Given the description of an element on the screen output the (x, y) to click on. 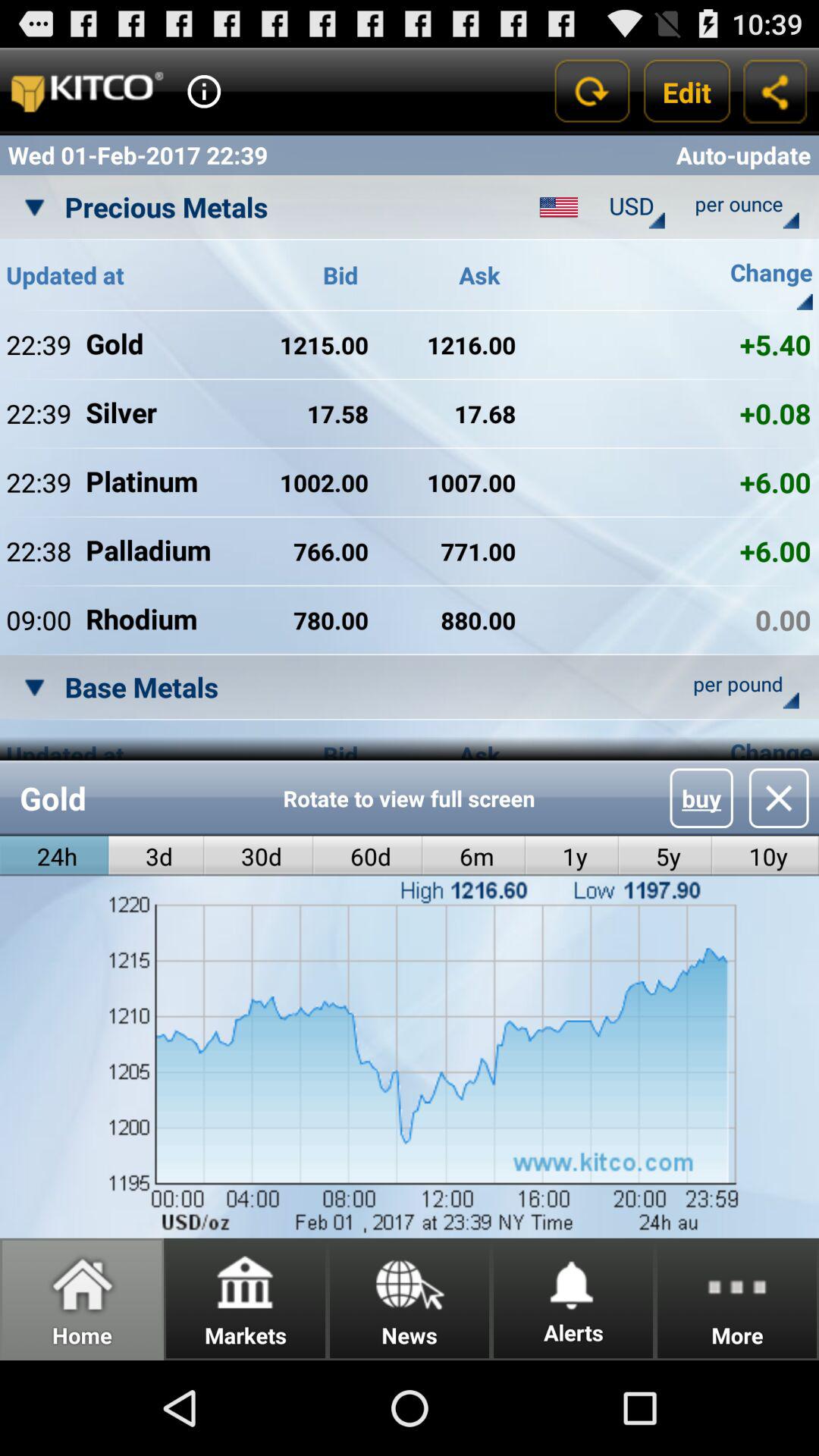
exit the graph (778, 798)
